Given the description of an element on the screen output the (x, y) to click on. 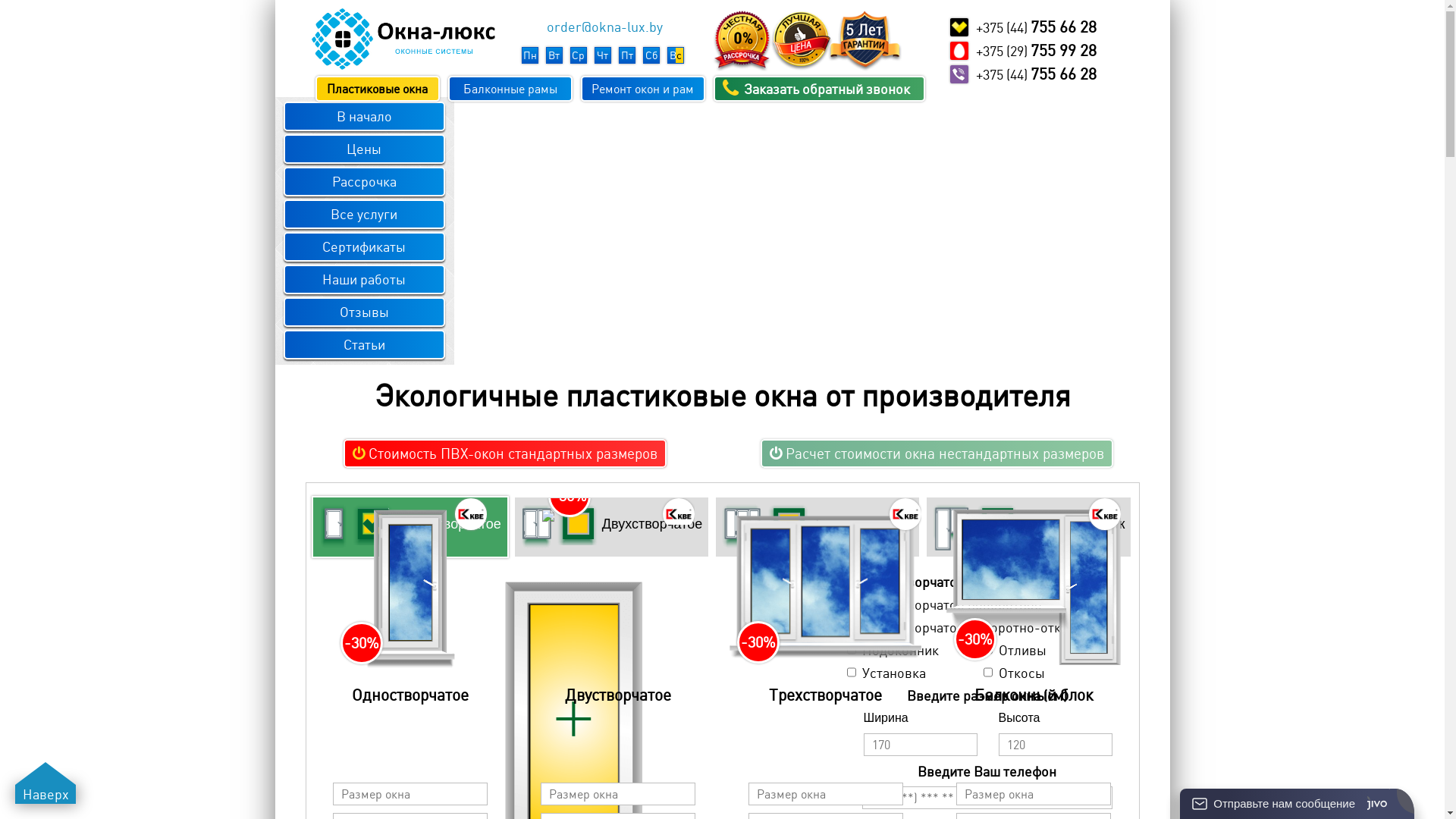
order@okna-lux.by Element type: text (604, 26)
